Given the description of an element on the screen output the (x, y) to click on. 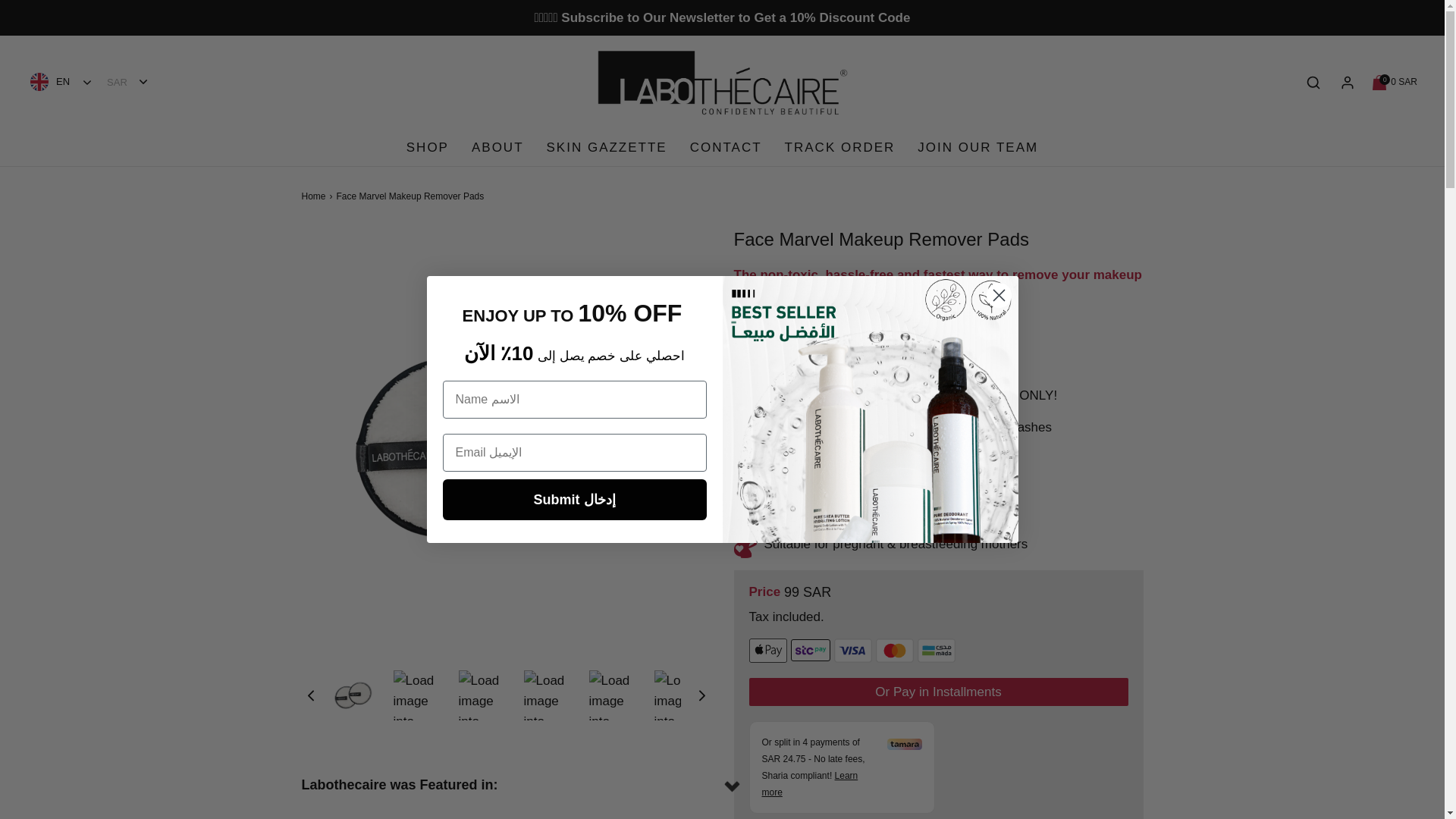
Mastercard (893, 650)
CONTACT (725, 147)
SHOP (427, 147)
EN (61, 81)
Log in (1347, 82)
ABOUT (497, 147)
Mada (936, 650)
Cart (1395, 82)
Visa (1395, 82)
Back to the frontpage (853, 650)
SKIN GAZZETTE (315, 196)
JOIN OUR TEAM (606, 147)
TRACK ORDER (977, 147)
Search (839, 147)
